Given the description of an element on the screen output the (x, y) to click on. 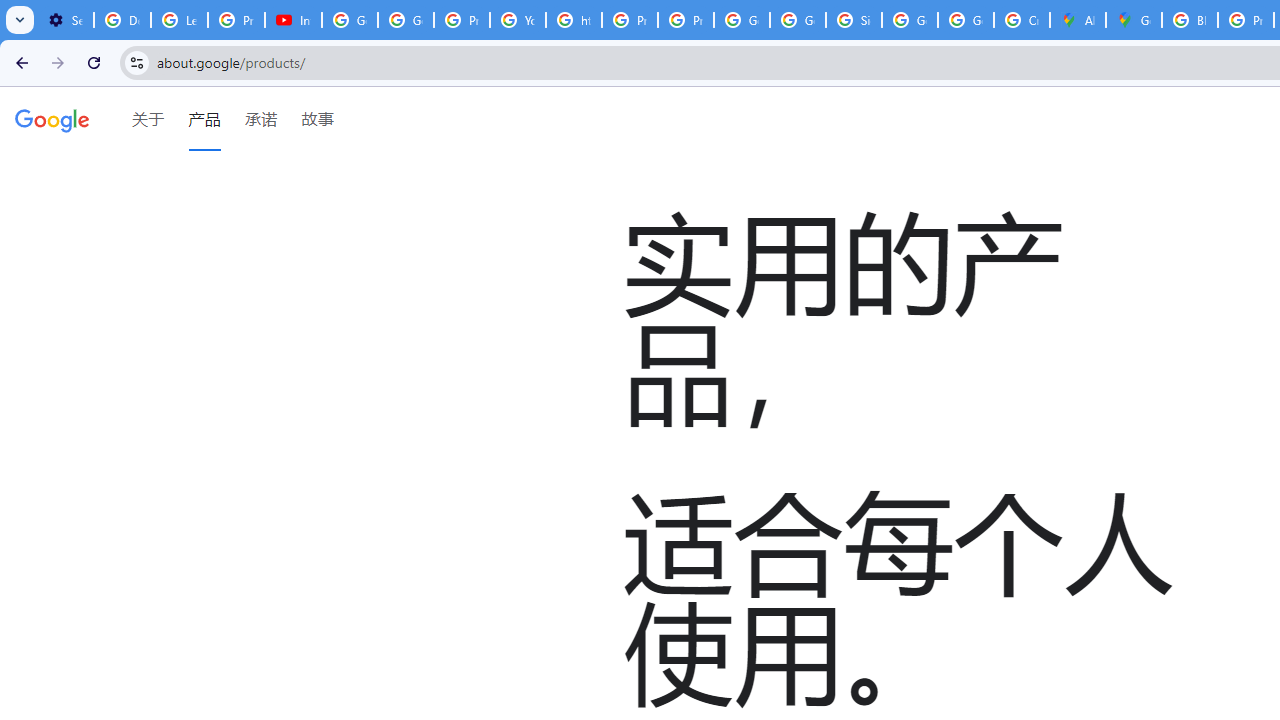
Google Maps (1133, 20)
Google Account Help (349, 20)
YouTube (518, 20)
Privacy Help Center - Policies Help (461, 20)
Blogger Policies and Guidelines - Transparency Center (1190, 20)
